Given the description of an element on the screen output the (x, y) to click on. 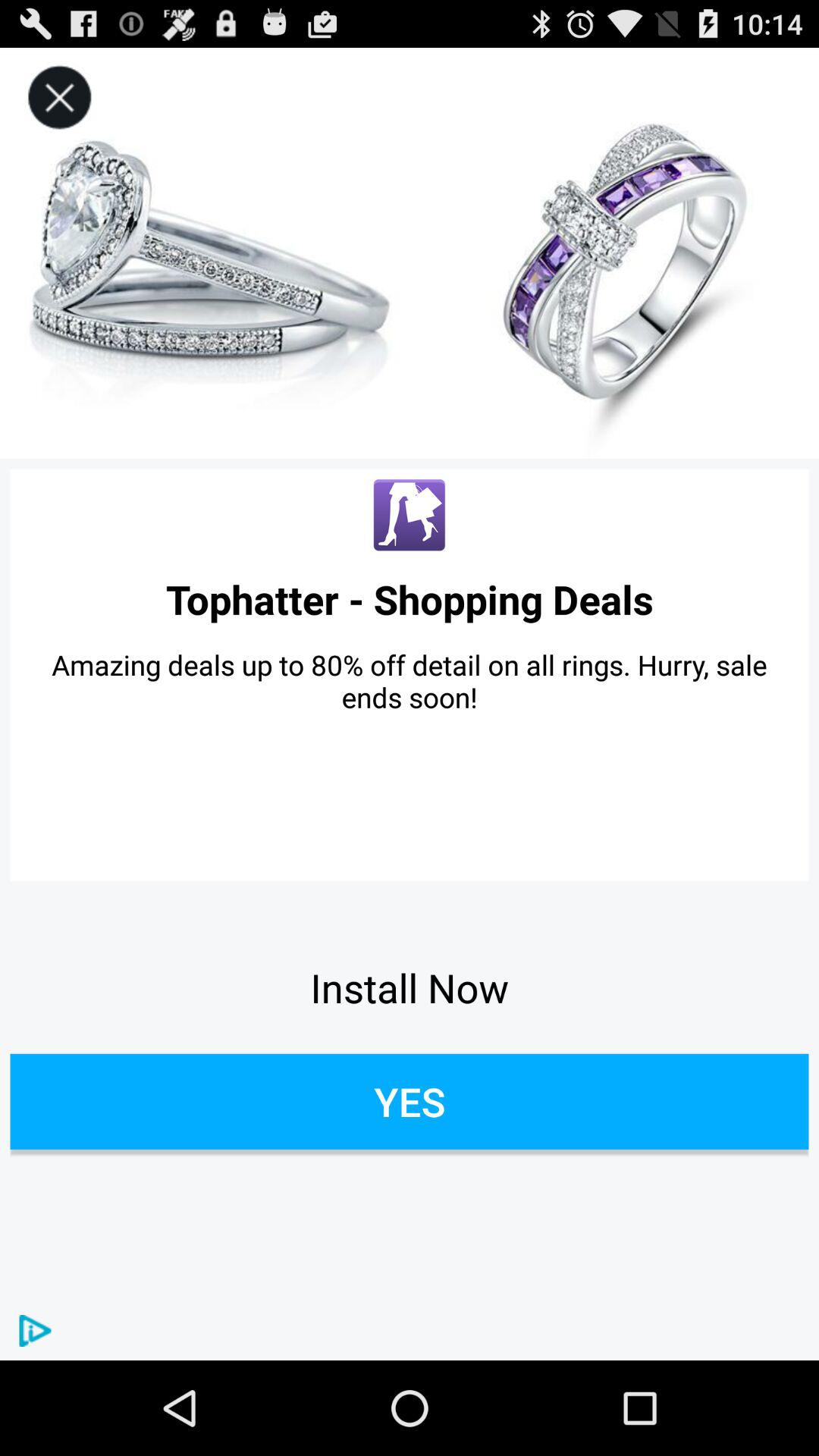
click item above yes icon (409, 987)
